Given the description of an element on the screen output the (x, y) to click on. 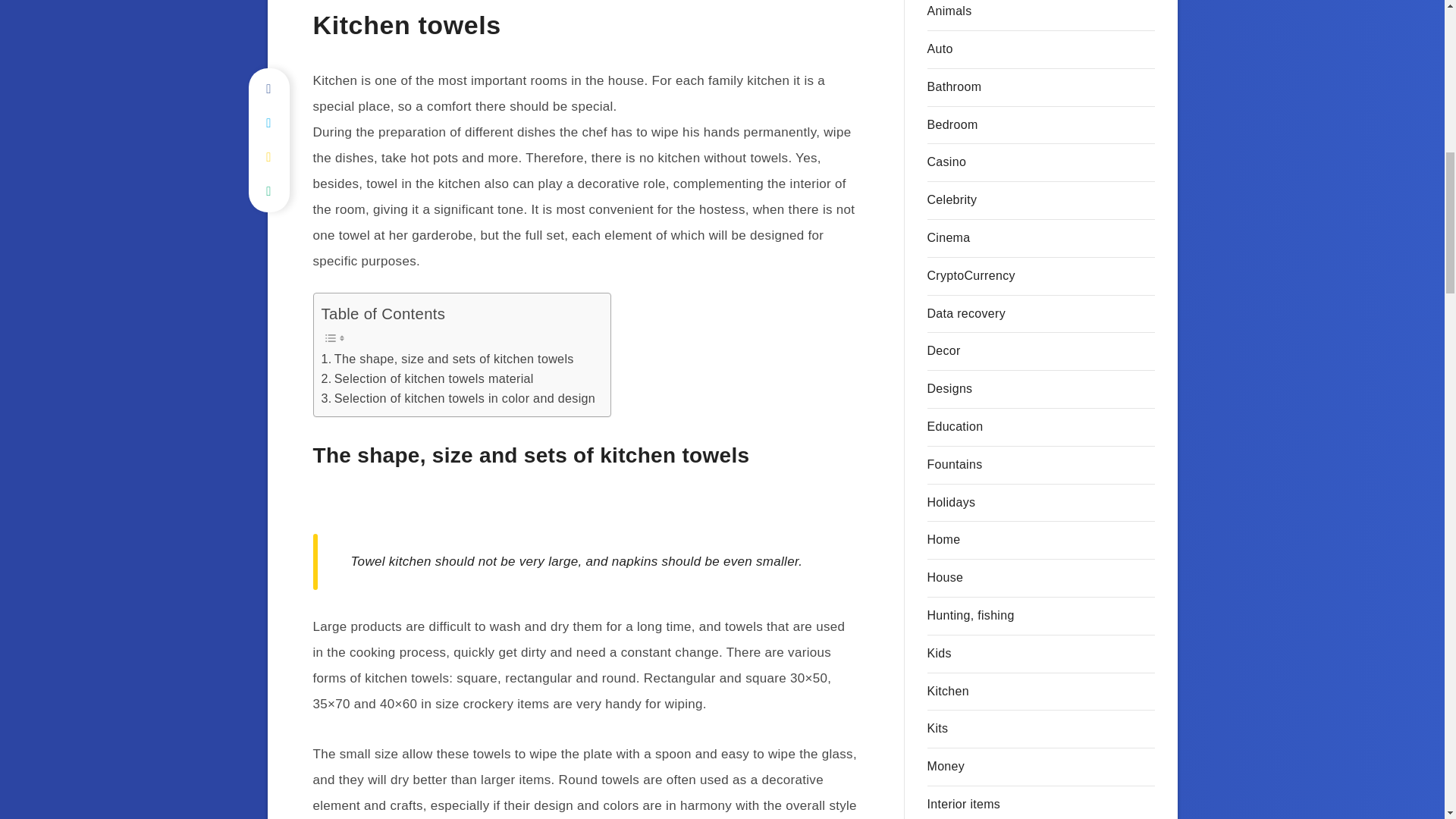
Selection of kitchen towels material (427, 379)
Selection of kitchen towels in color and design (458, 398)
The shape, size and sets of kitchen towels (447, 359)
